Given the description of an element on the screen output the (x, y) to click on. 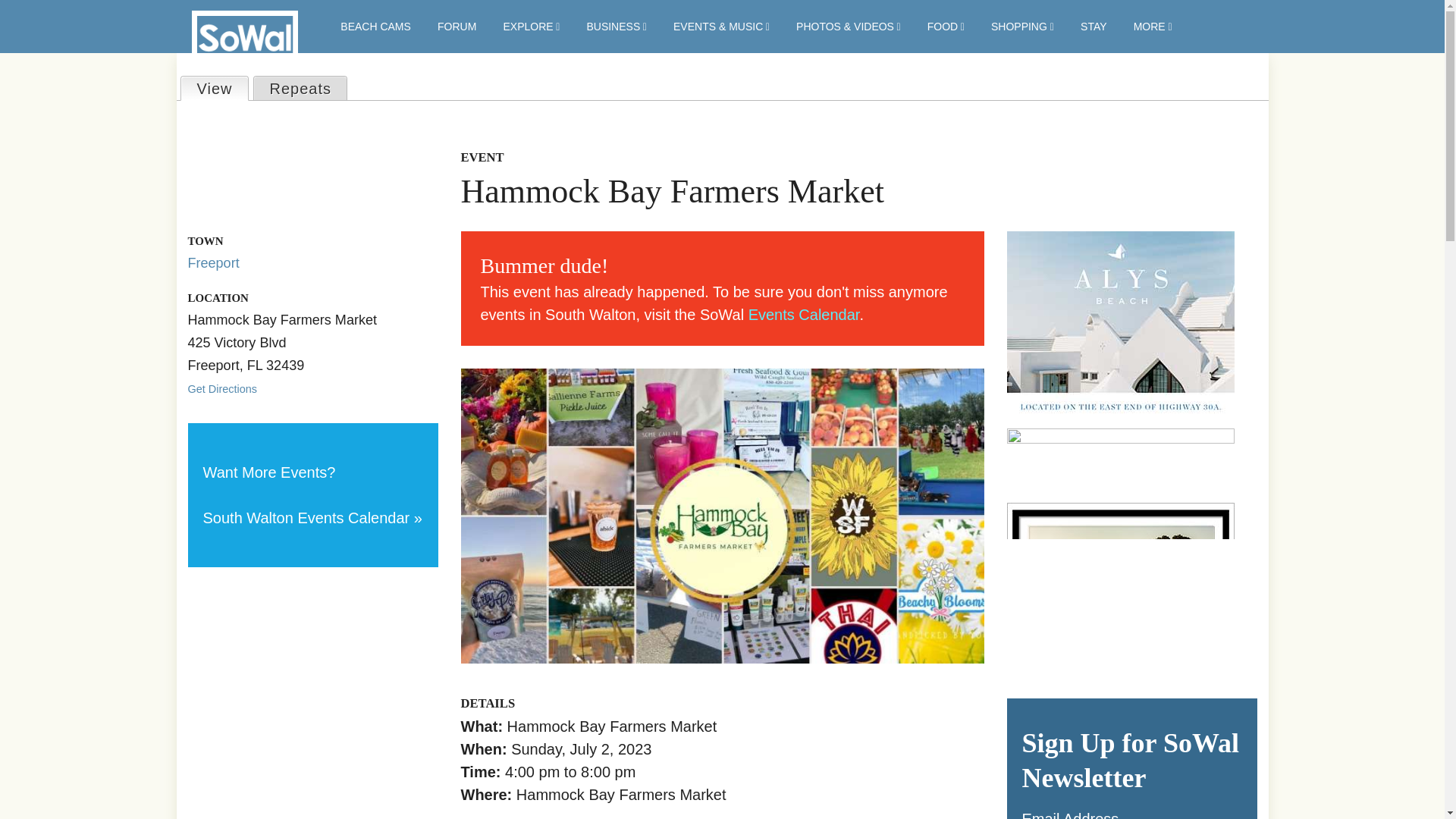
BUSINESS (616, 27)
get directions to this location in Google Maps (222, 388)
EXPLORE (531, 27)
Home (243, 57)
go to events page (804, 314)
See our events guide (312, 517)
BEACH CAMS (375, 26)
FORUM (457, 26)
